Given the description of an element on the screen output the (x, y) to click on. 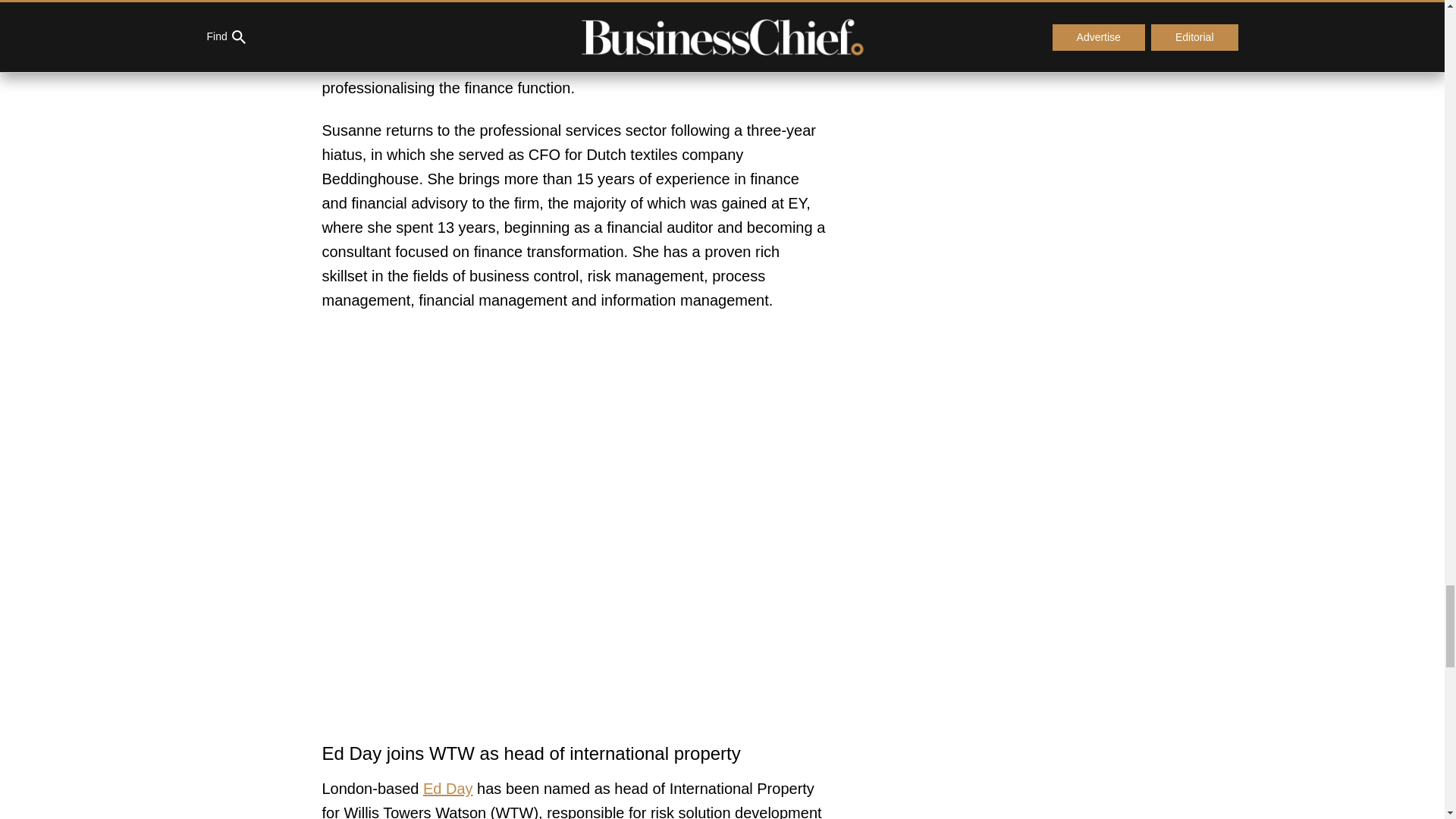
Ed Day (448, 788)
